Given the description of an element on the screen output the (x, y) to click on. 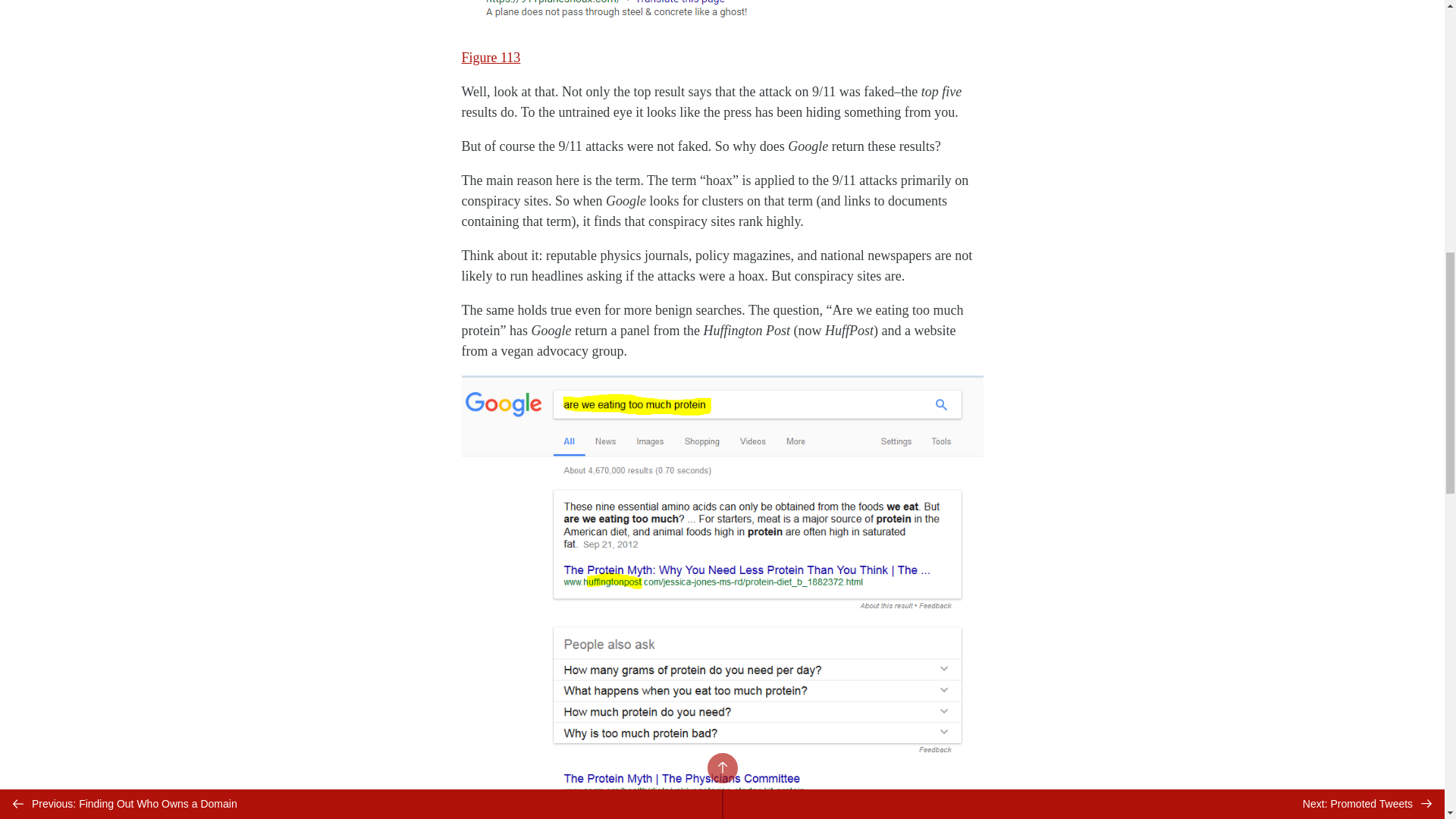
Figure 113 (490, 57)
